Given the description of an element on the screen output the (x, y) to click on. 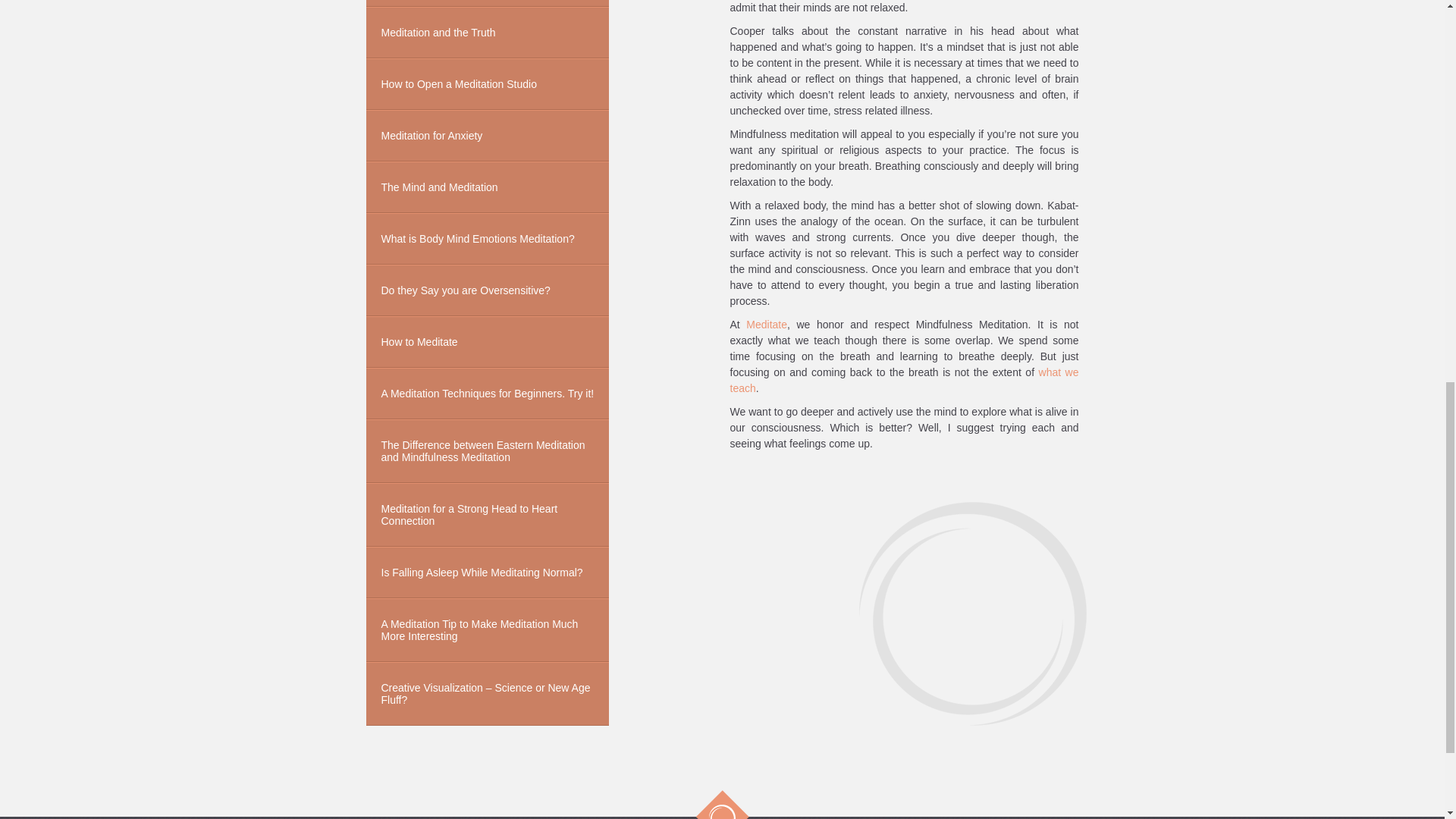
Permanent link to Meditation and the Truth (486, 32)
Permanent link to How to Meditate (486, 341)
Permanent link to What is Body Mind Emotions Meditation? (486, 238)
Permanent link to How to Open a Meditation Studio (486, 83)
Permanent link to The Mind and Meditation (486, 186)
Permanent link to Is Falling Asleep While Meditating Normal? (486, 572)
Permanent link to Benefits of Western Meditation (486, 3)
Permanent link to Meditation for Anxiety (486, 135)
Permanent link to Do they Say you are Oversensitive? (486, 290)
